Given the description of an element on the screen output the (x, y) to click on. 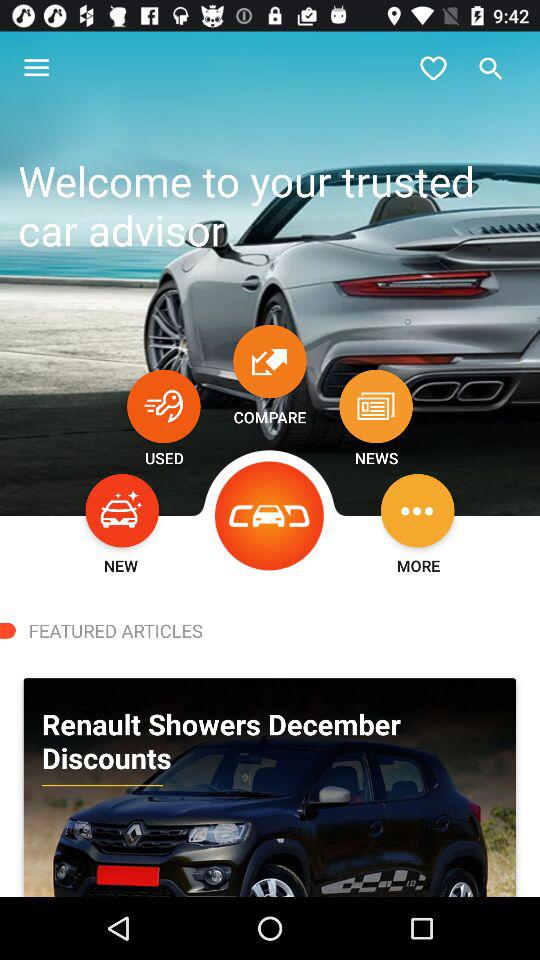
list of news of the day (375, 406)
